Given the description of an element on the screen output the (x, y) to click on. 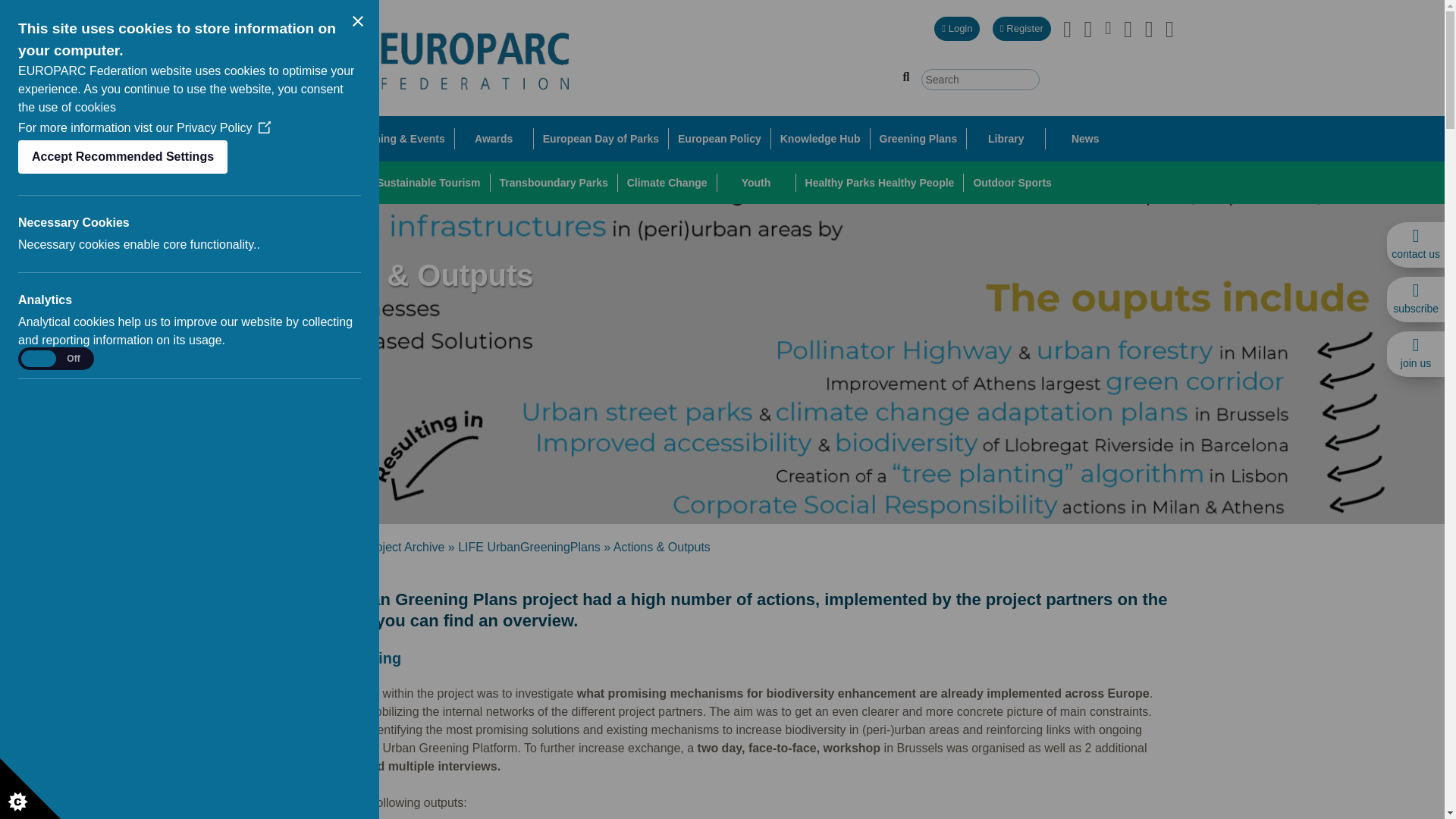
Login (956, 28)
Cookie Control Icon (30, 788)
Cookie Control Link Icon (264, 128)
Back to EUROPARC Federation homepage (423, 57)
Register (1021, 28)
About us (306, 138)
